Given the description of an element on the screen output the (x, y) to click on. 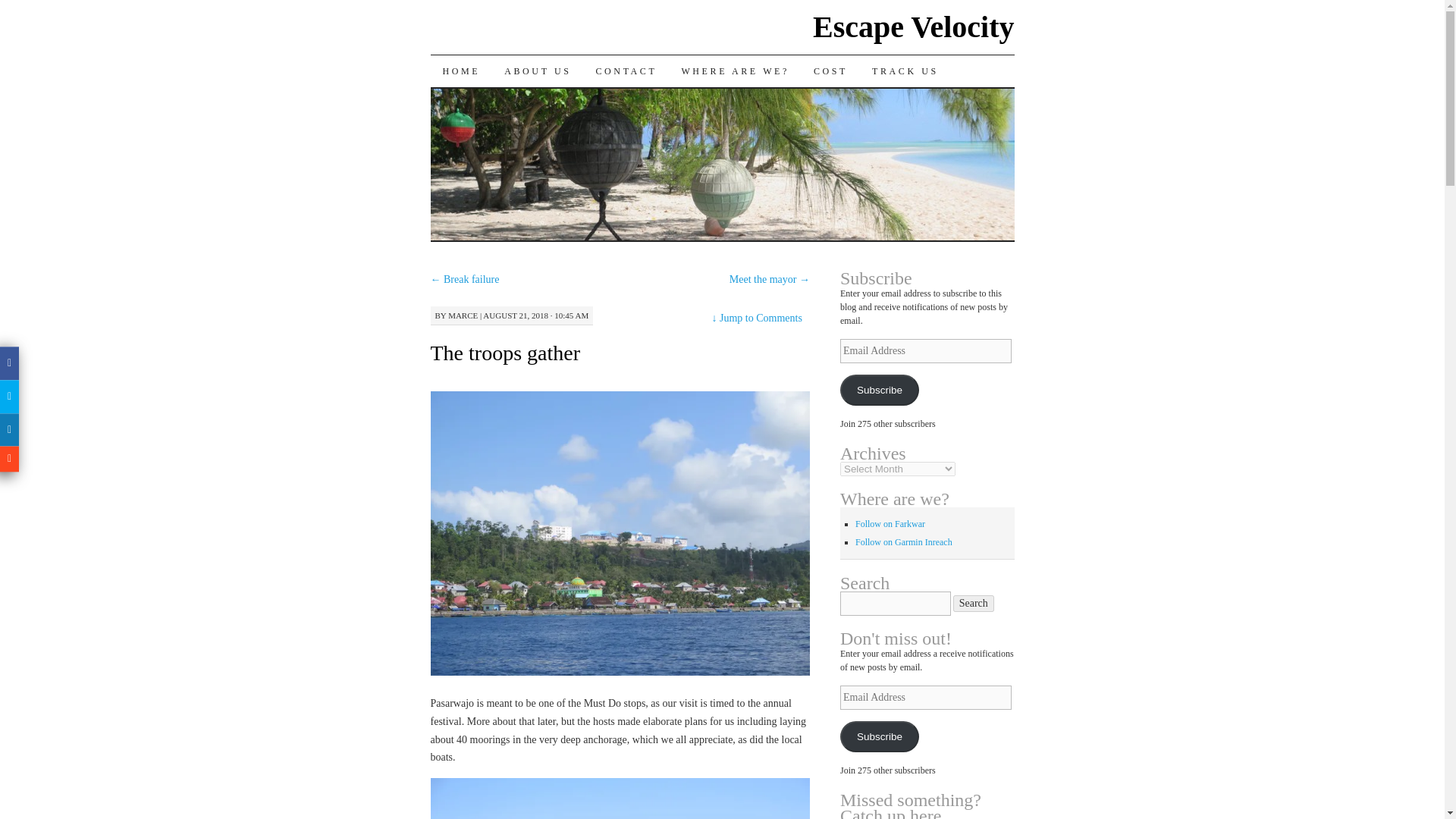
WHERE ARE WE? (735, 70)
Follow on Garmin Inreach (904, 542)
Search (973, 603)
CONTACT (626, 70)
Search (973, 603)
The troops gather (505, 352)
MARCE (462, 315)
Subscribe (879, 736)
TRACK US (905, 70)
Escape Velocity (913, 26)
Follow on Farkwar (890, 523)
Escape Velocity (913, 26)
ABOUT US (537, 70)
Subscribe (879, 389)
HOME (461, 70)
